Given the description of an element on the screen output the (x, y) to click on. 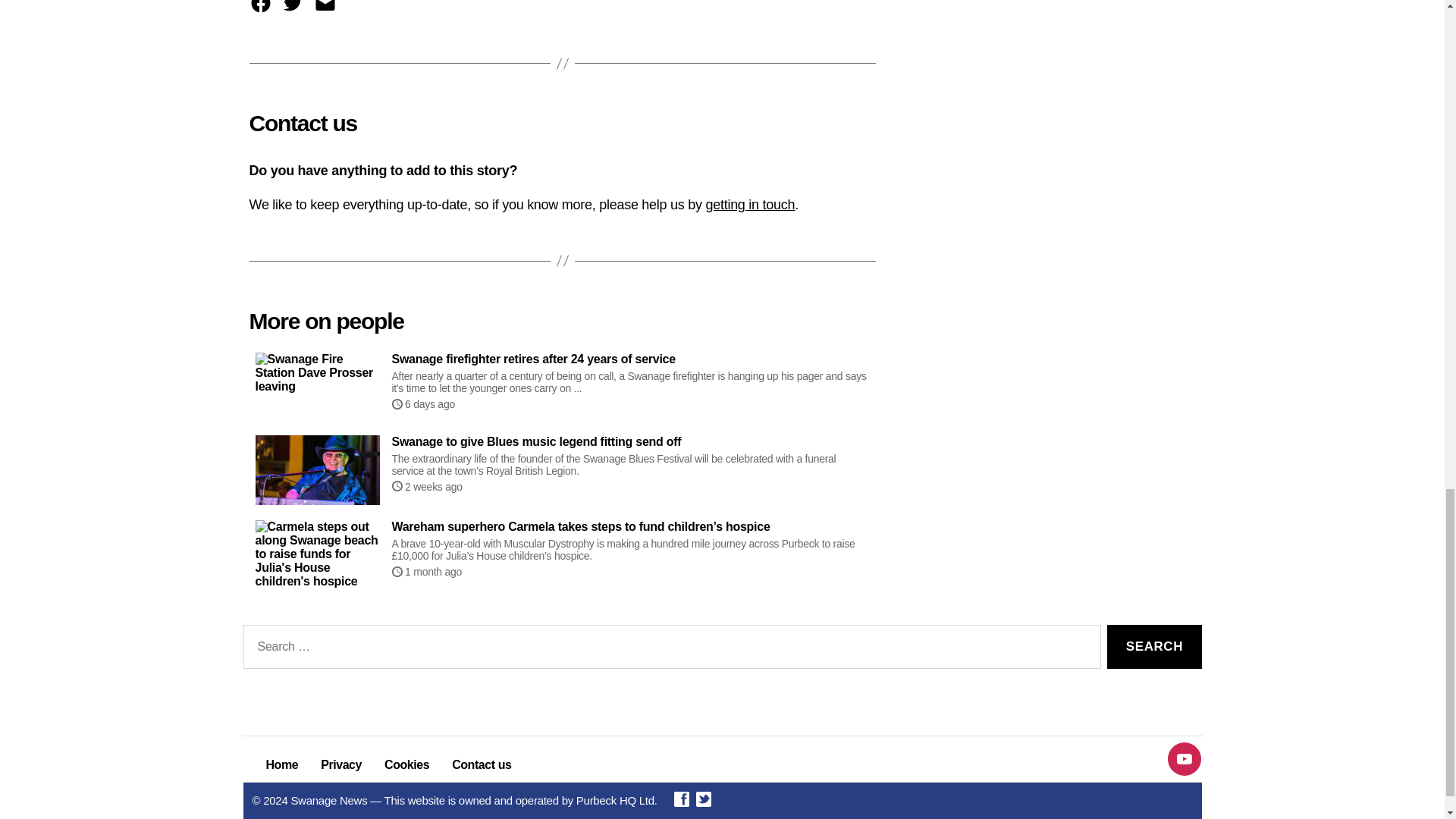
getting in touch (749, 204)
Search (1153, 646)
More on people (325, 321)
Search (1153, 646)
